Given the description of an element on the screen output the (x, y) to click on. 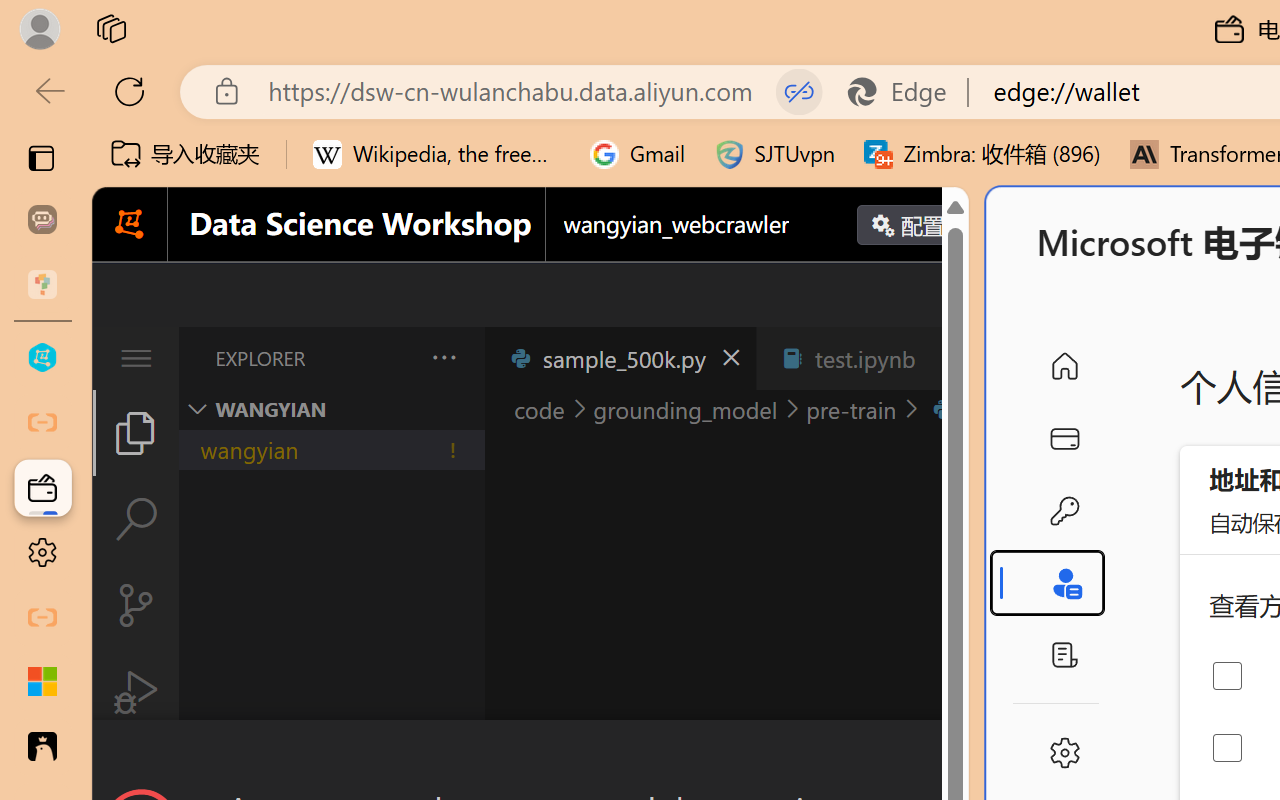
Close Dialog (959, 756)
Gmail (637, 154)
SJTUvpn (774, 154)
Explorer (Ctrl+Shift+E) (135, 432)
Views and More Actions... (442, 357)
Explorer actions (391, 358)
Explorer Section: wangyian (331, 409)
Source Control (Ctrl+Shift+G) (135, 604)
